Given the description of an element on the screen output the (x, y) to click on. 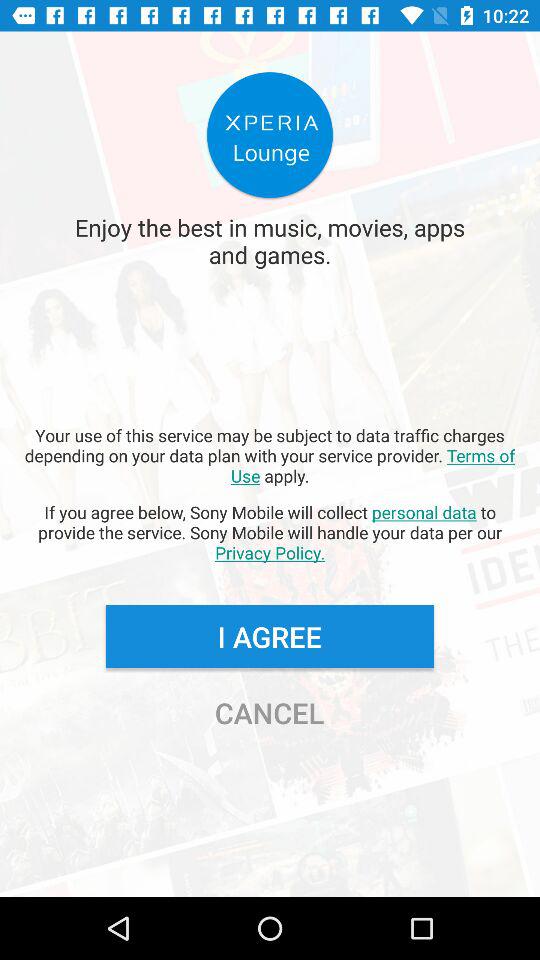
swipe to the cancel button (269, 712)
